Given the description of an element on the screen output the (x, y) to click on. 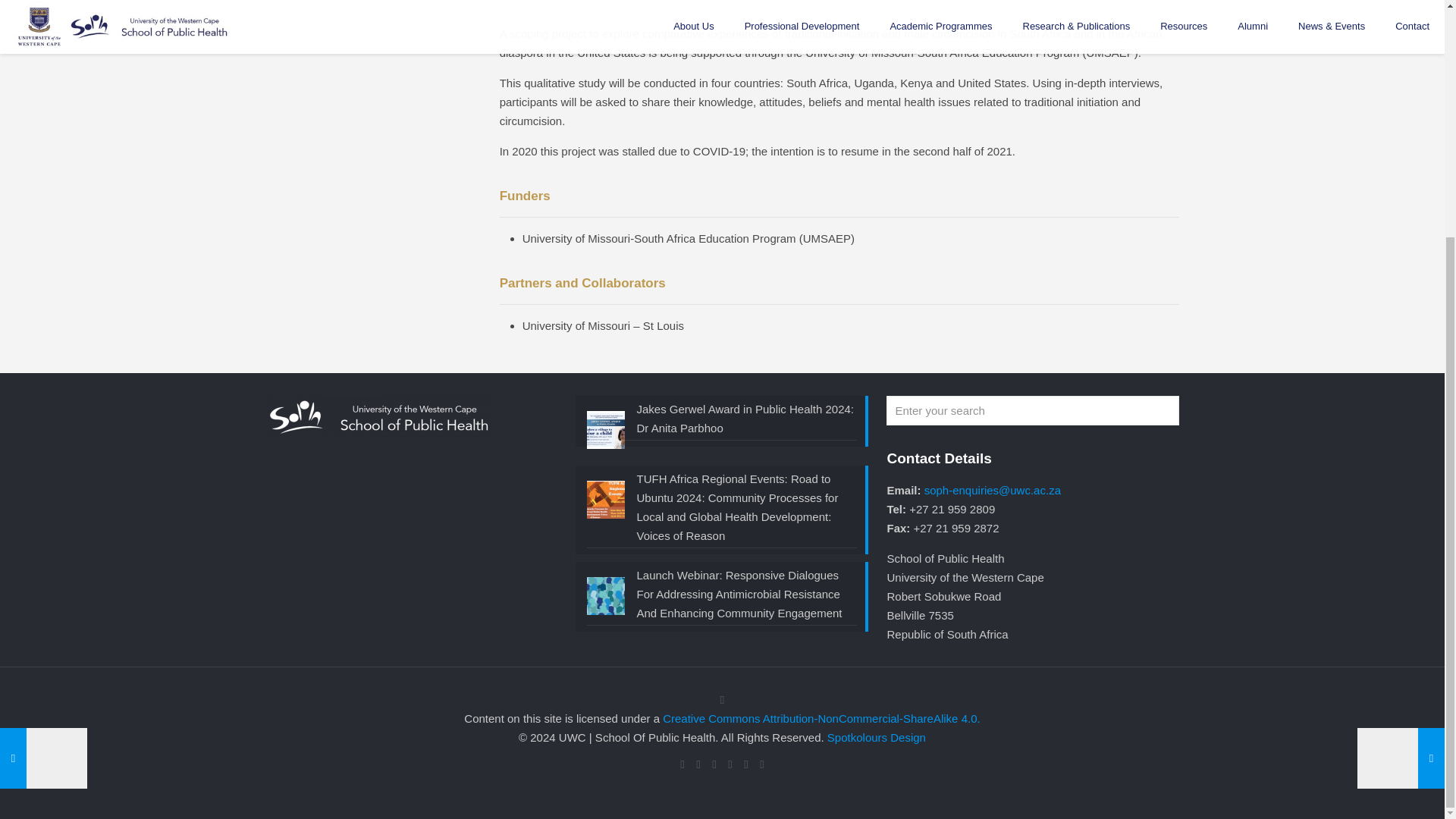
Jakes Gerwel Award in Public Health 2024: Dr Anita Parbhoo (721, 419)
